Given the description of an element on the screen output the (x, y) to click on. 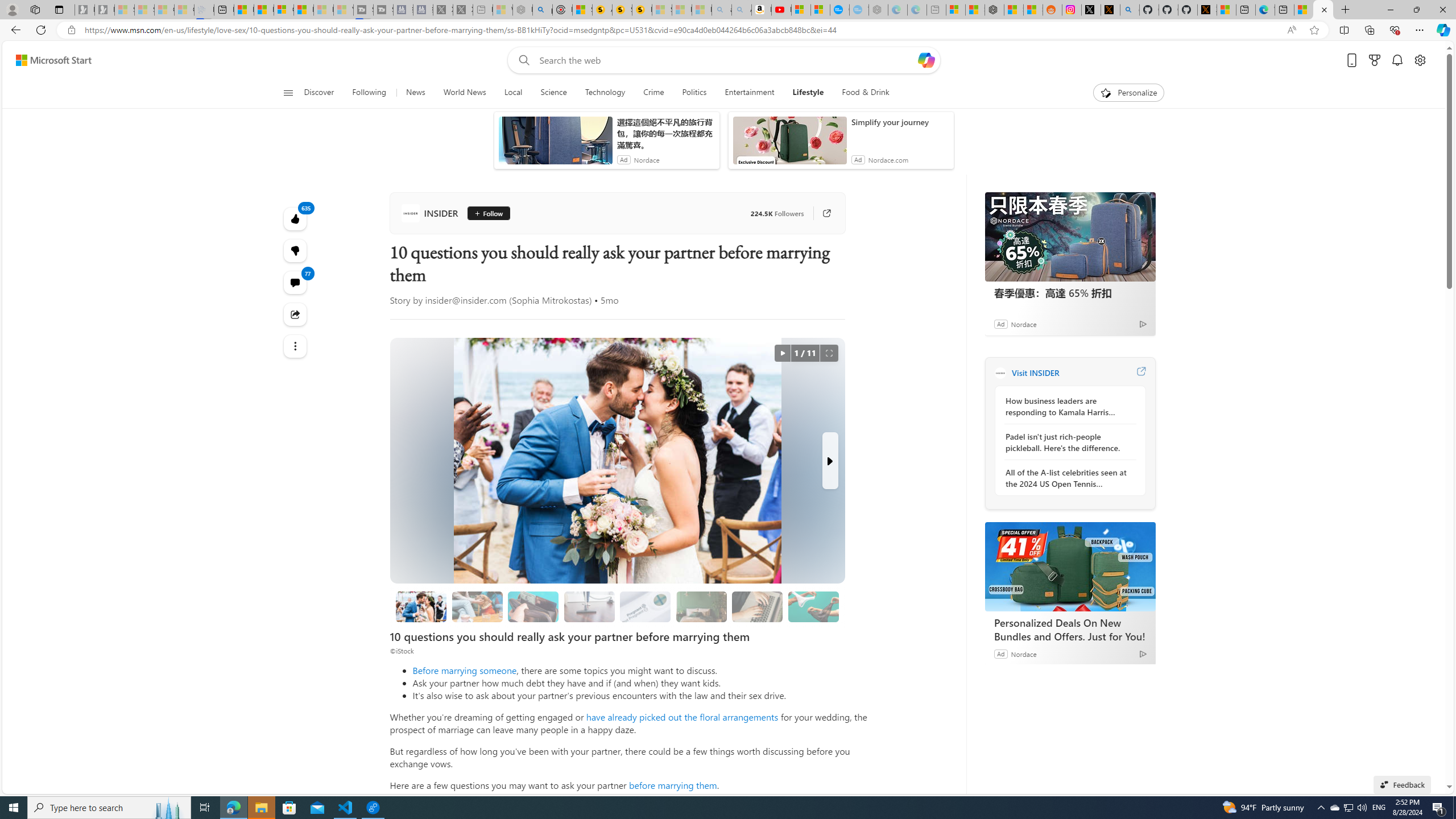
Skip to footer (46, 59)
Overview (283, 9)
Science (553, 92)
Politics (694, 92)
Before marrying someone (464, 670)
Two friend sitting at a coffee shop petting a dog. (477, 606)
Local (513, 92)
Microsoft rewards (1374, 60)
poe - Search (542, 9)
